Given the description of an element on the screen output the (x, y) to click on. 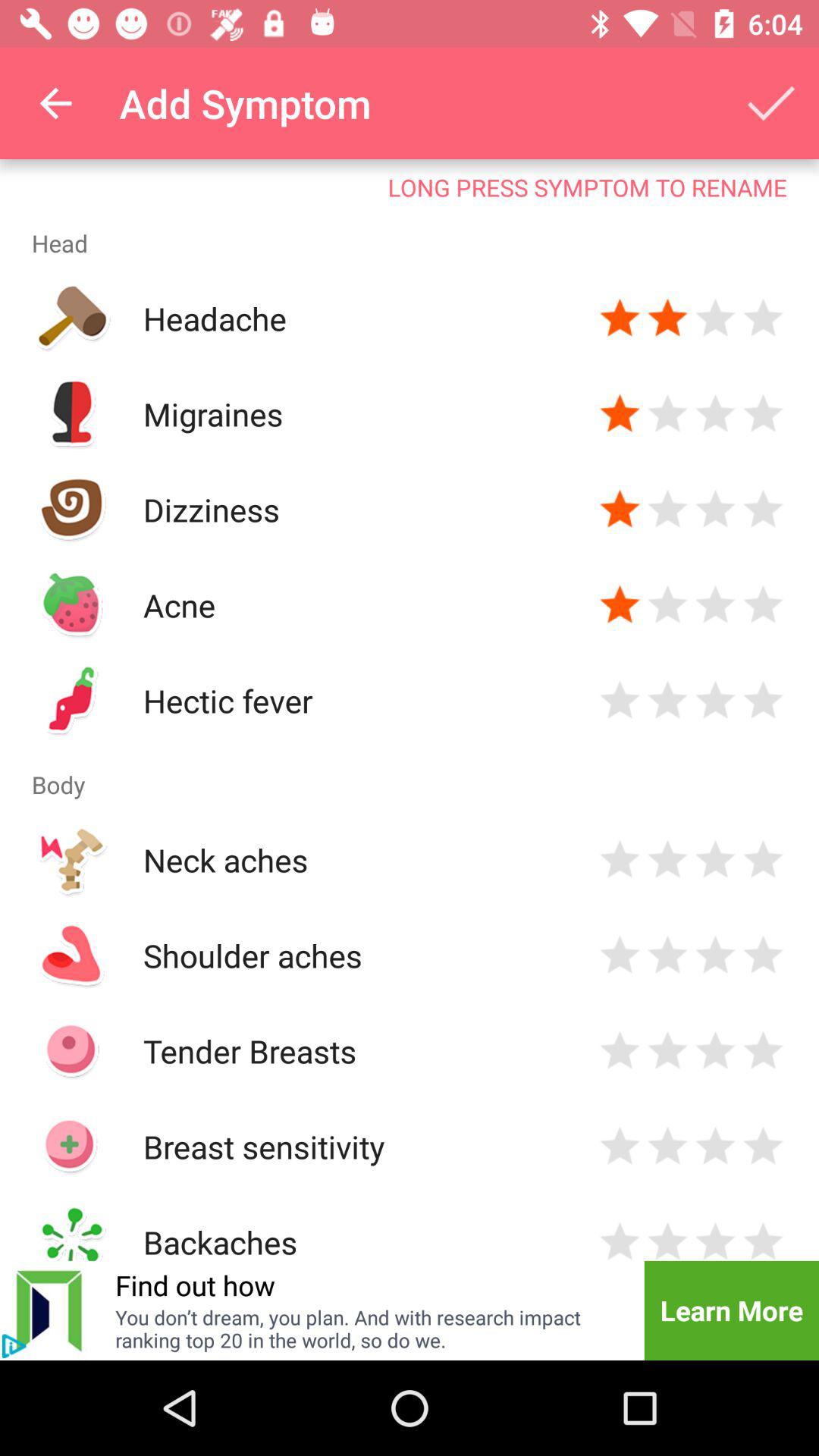
rate item 5 stars (763, 955)
